Given the description of an element on the screen output the (x, y) to click on. 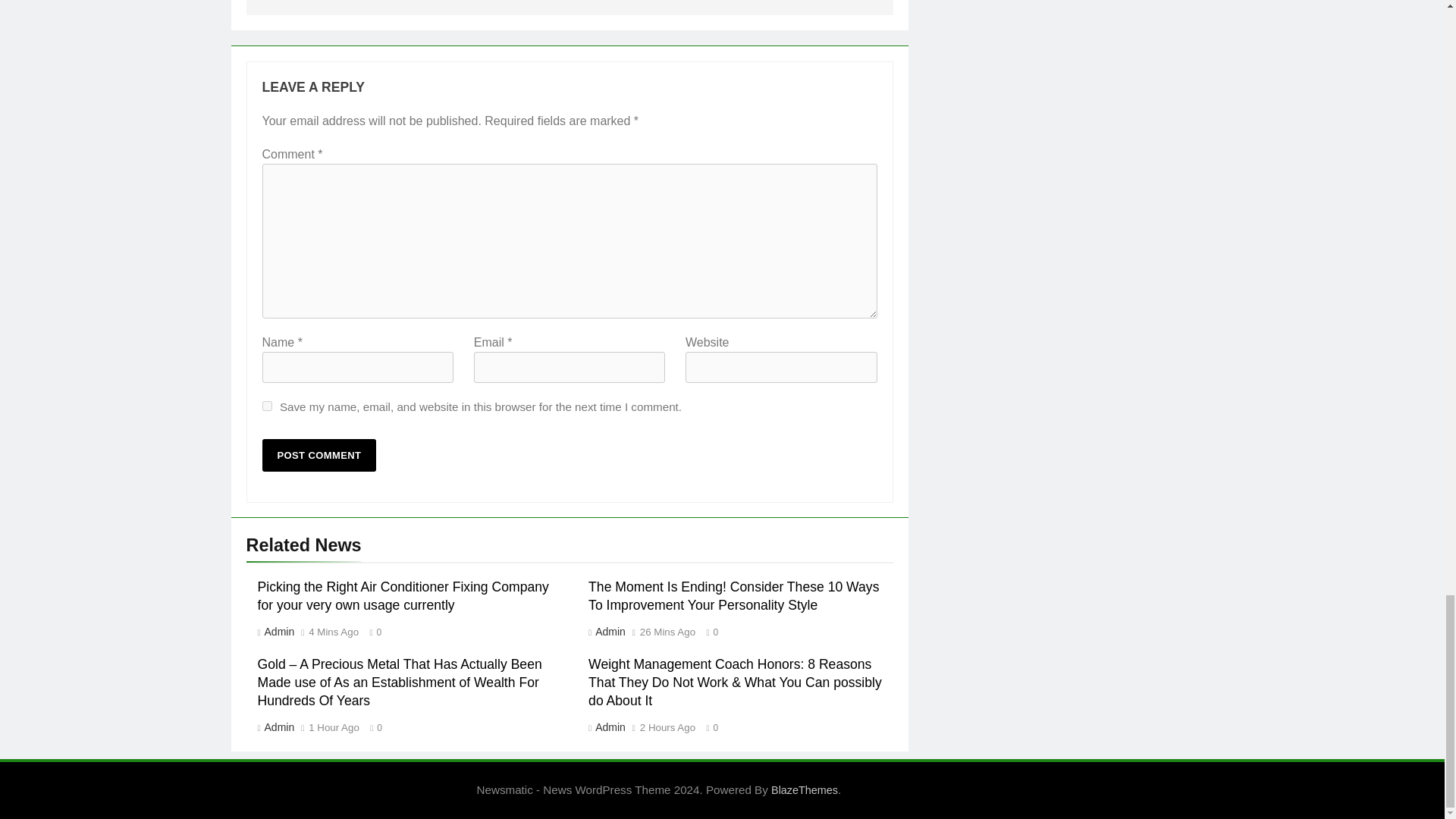
yes (267, 406)
Post Comment (319, 454)
